Given the description of an element on the screen output the (x, y) to click on. 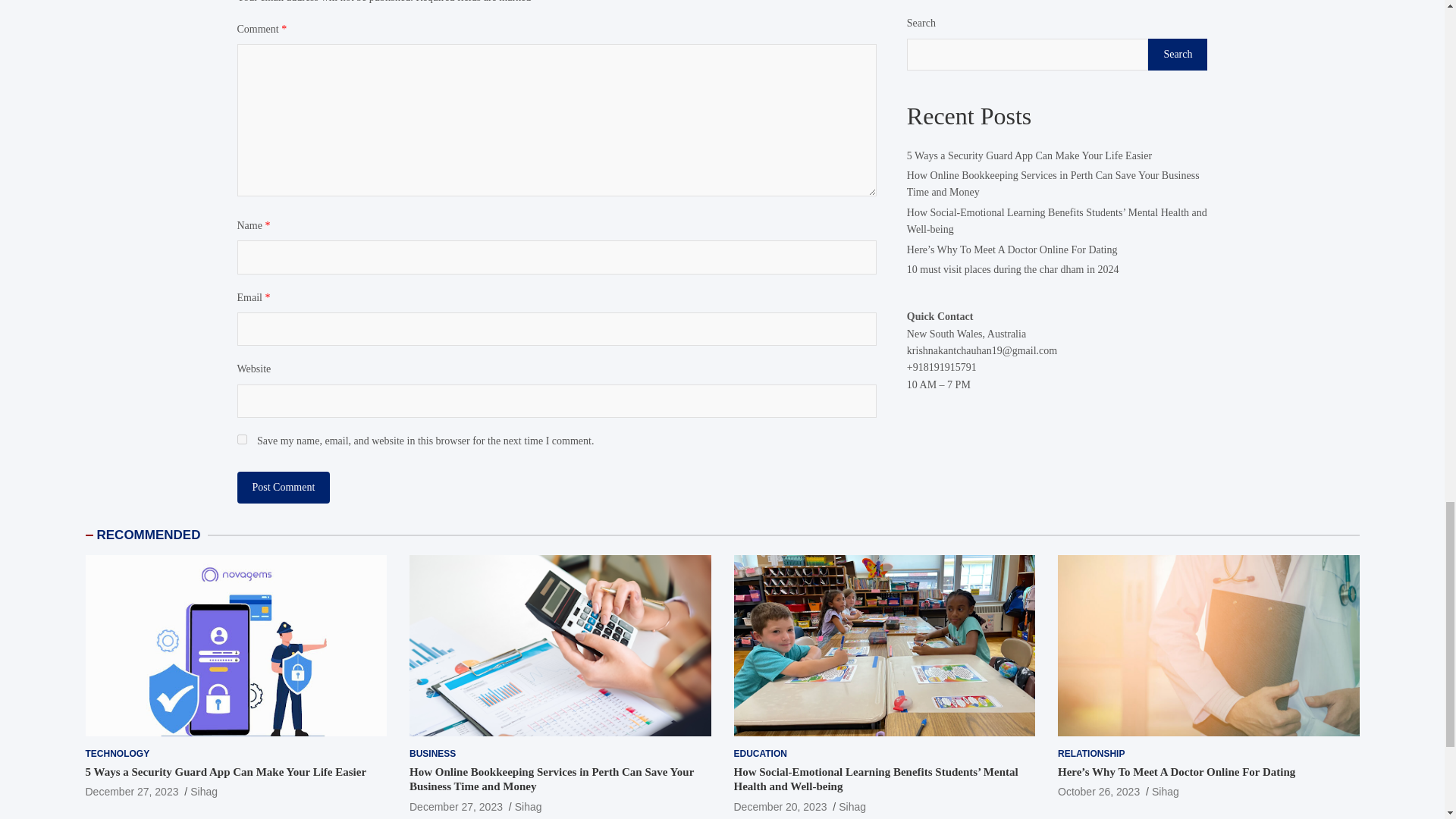
5 Ways a Security Guard App Can Make Your Life Easier (130, 791)
TECHNOLOGY (116, 753)
yes (240, 439)
Post Comment (282, 487)
RECOMMENDED (148, 534)
Post Comment (282, 487)
